Given the description of an element on the screen output the (x, y) to click on. 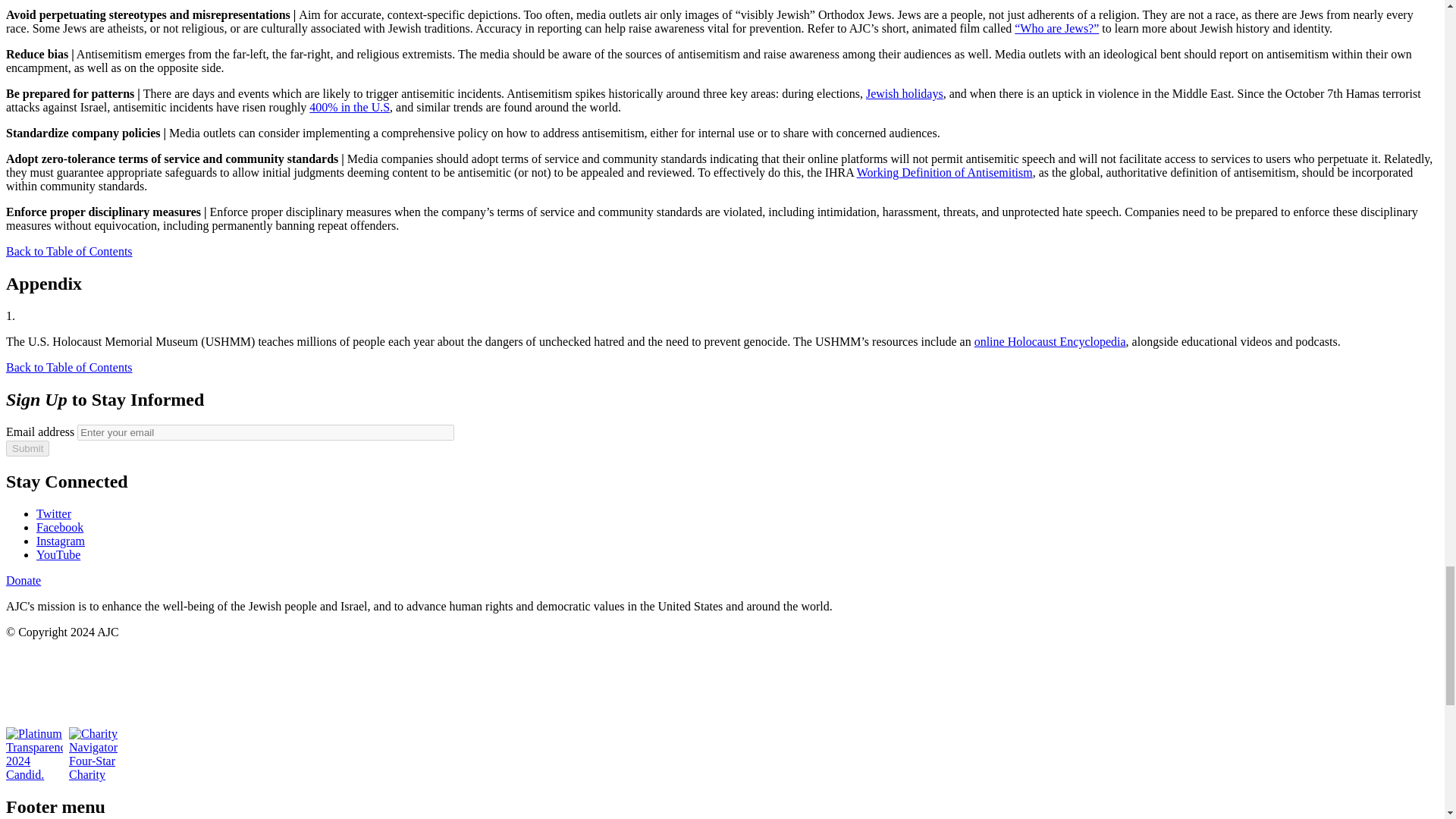
Submit (27, 448)
